Given the description of an element on the screen output the (x, y) to click on. 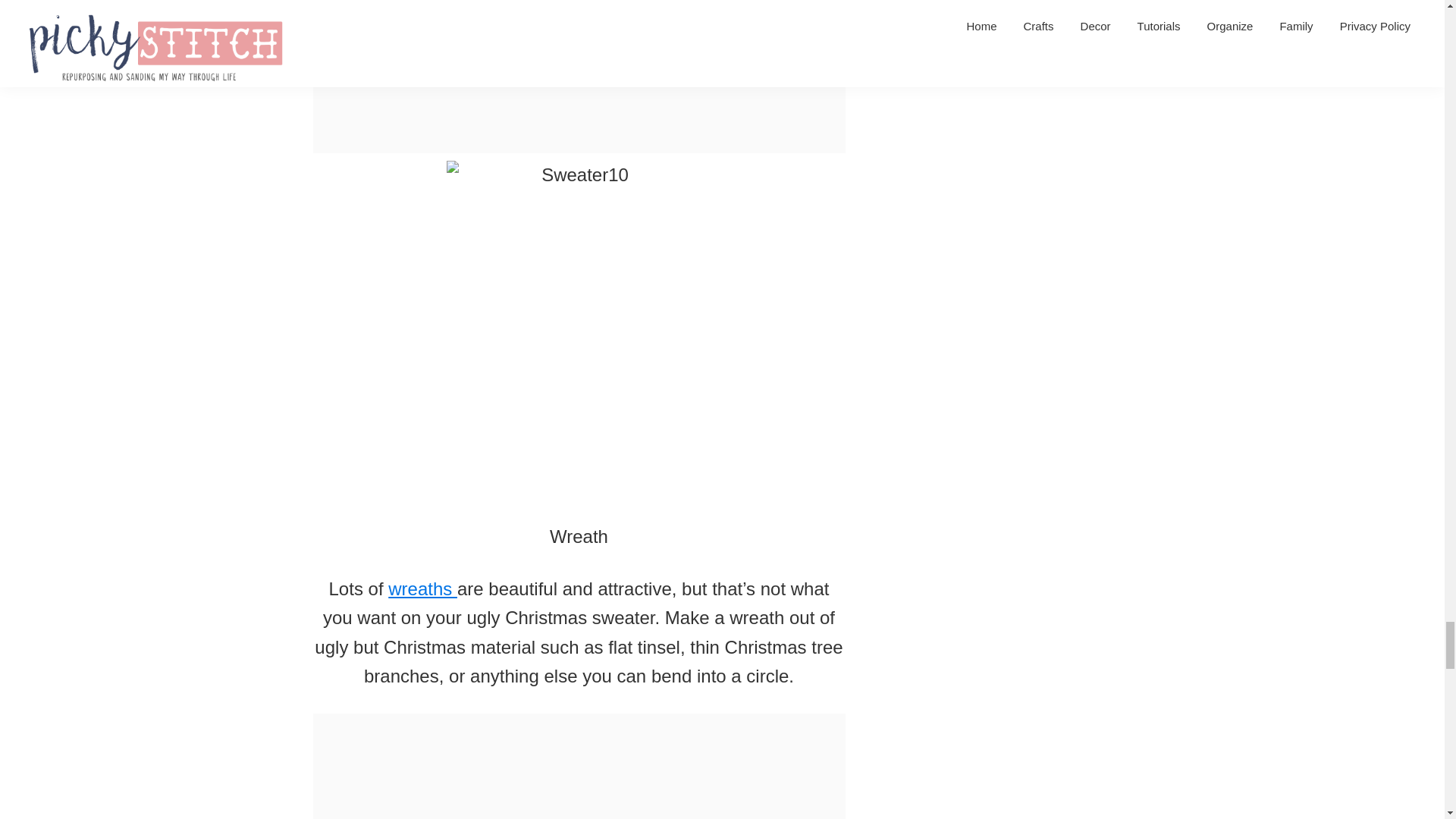
wreaths (422, 588)
